Given the description of an element on the screen output the (x, y) to click on. 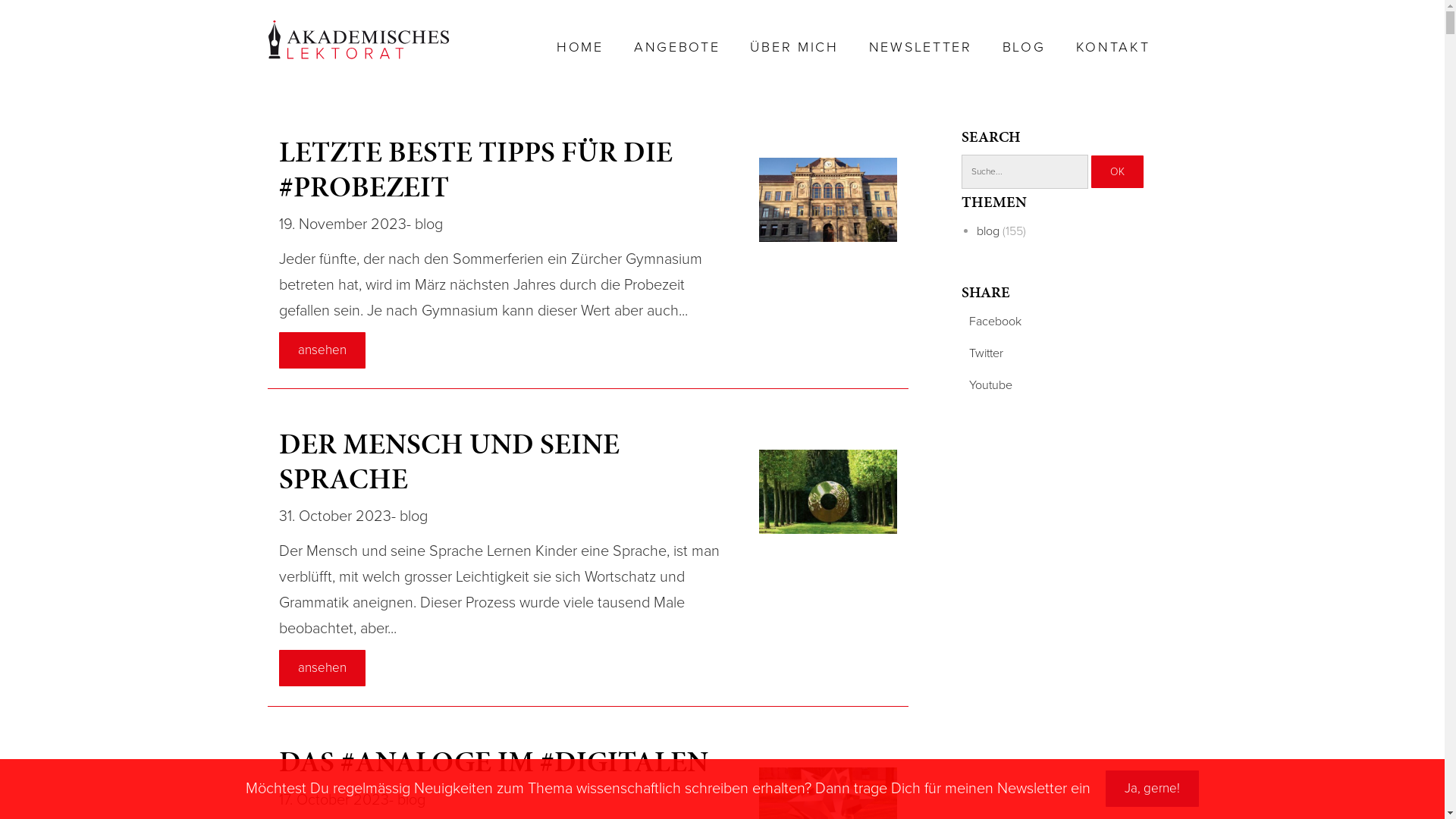
blog Element type: text (412, 516)
NEWSLETTER Element type: text (920, 47)
HOME Element type: text (579, 47)
blog Element type: text (987, 230)
Ja, gerne! Element type: text (1151, 788)
ansehen Element type: text (322, 667)
blog Element type: text (428, 224)
OK Element type: text (1116, 171)
Facebook Element type: text (991, 321)
Logo Element type: hover (357, 39)
blog Element type: text (411, 799)
ansehen Element type: text (322, 350)
KONTAKT Element type: text (1112, 47)
Twitter Element type: text (982, 352)
BLOG Element type: text (1023, 47)
ANGEBOTE Element type: text (676, 47)
Youtube Element type: text (986, 384)
